Given the description of an element on the screen output the (x, y) to click on. 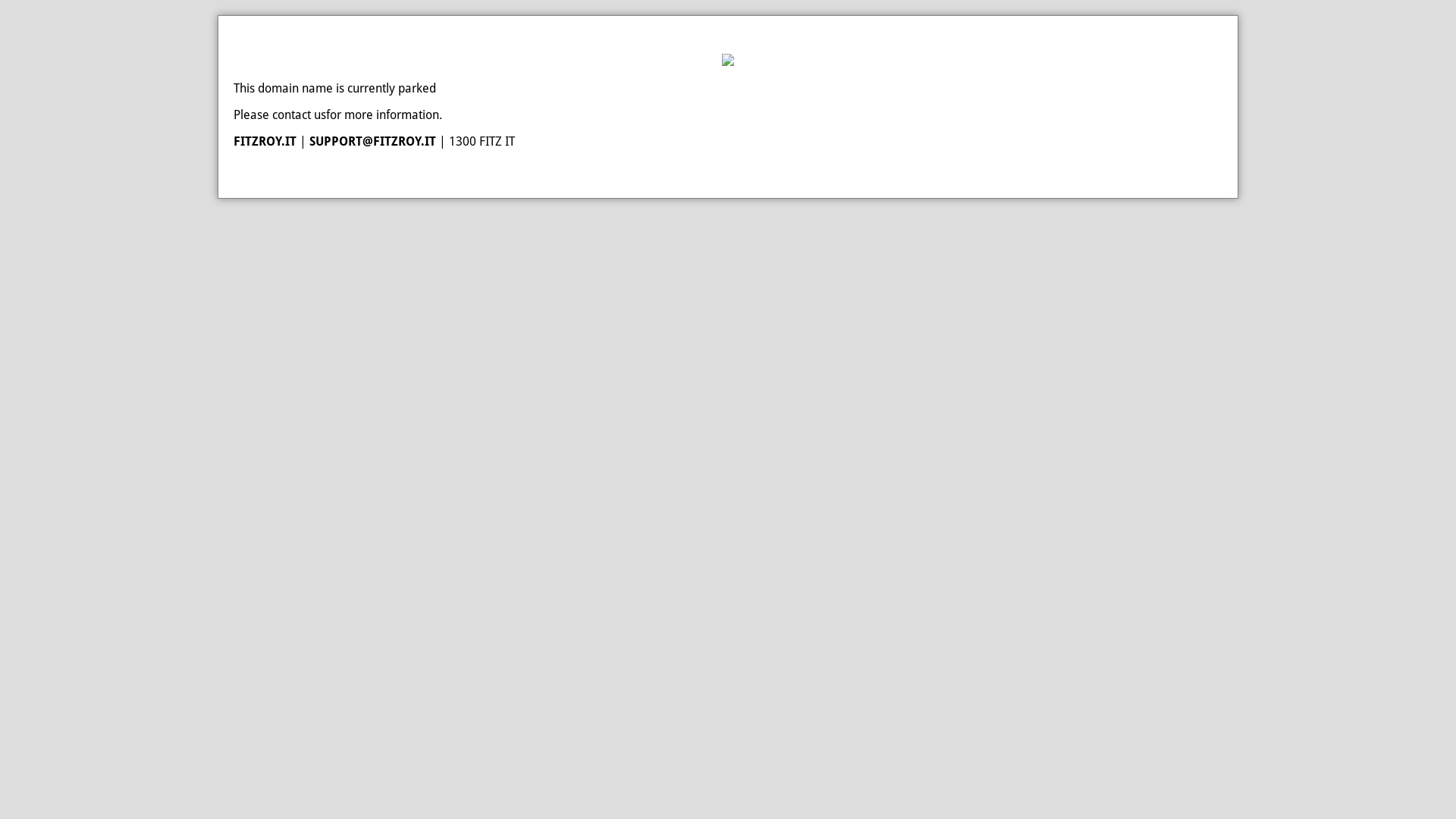
SUPPORT@FITZROY.IT Element type: text (372, 141)
FITZROY.IT Element type: text (264, 141)
